Given the description of an element on the screen output the (x, y) to click on. 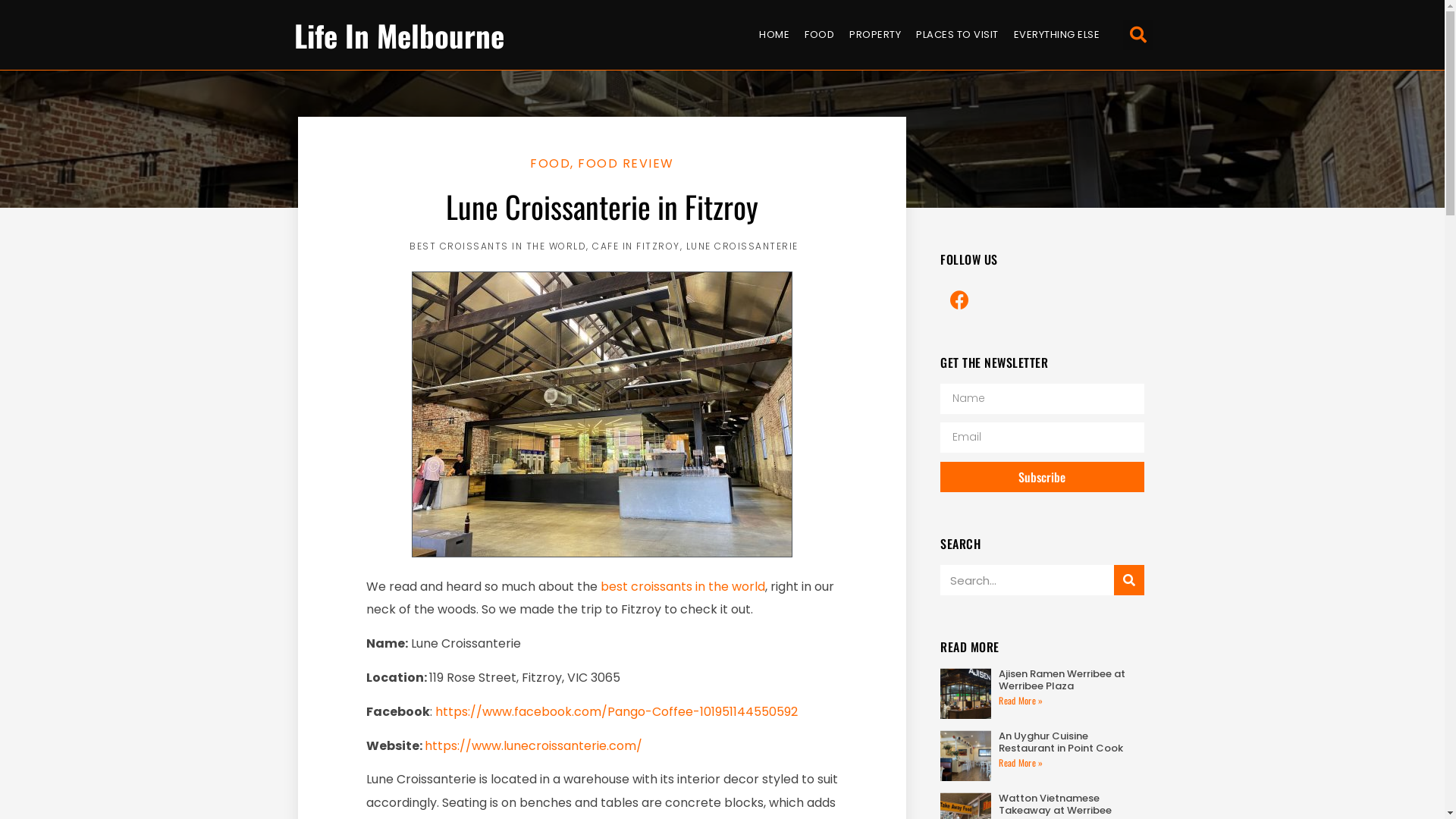
Subscribe Element type: text (1042, 476)
Life In Melbourne Element type: text (399, 34)
PLACES TO VISIT Element type: text (957, 34)
BEST CROISSANTS IN THE WORLD Element type: text (497, 245)
CAFE IN FITZROY Element type: text (636, 245)
HOME Element type: text (774, 34)
Search Element type: hover (1128, 579)
Search Element type: hover (1026, 579)
https://www.lunecroissanterie.com/ Element type: text (533, 745)
best croissants in the world Element type: text (682, 586)
FOOD REVIEW Element type: text (625, 163)
FOOD Element type: text (550, 163)
PROPERTY Element type: text (874, 34)
EVERYTHING ELSE Element type: text (1056, 34)
Watton Vietnamese Takeaway at Werribee Element type: text (1054, 803)
FOOD Element type: text (819, 34)
LUNE CROISSANTERIE Element type: text (742, 245)
Ajisen Ramen Werribee at Werribee Plaza Element type: text (1061, 679)
An Uyghur Cuisine Restaurant in Point Cook Element type: text (1060, 741)
Lune Element type: hover (601, 414)
https://www.facebook.com/Pango-Coffee-101951144550592 Element type: text (616, 711)
